Given the description of an element on the screen output the (x, y) to click on. 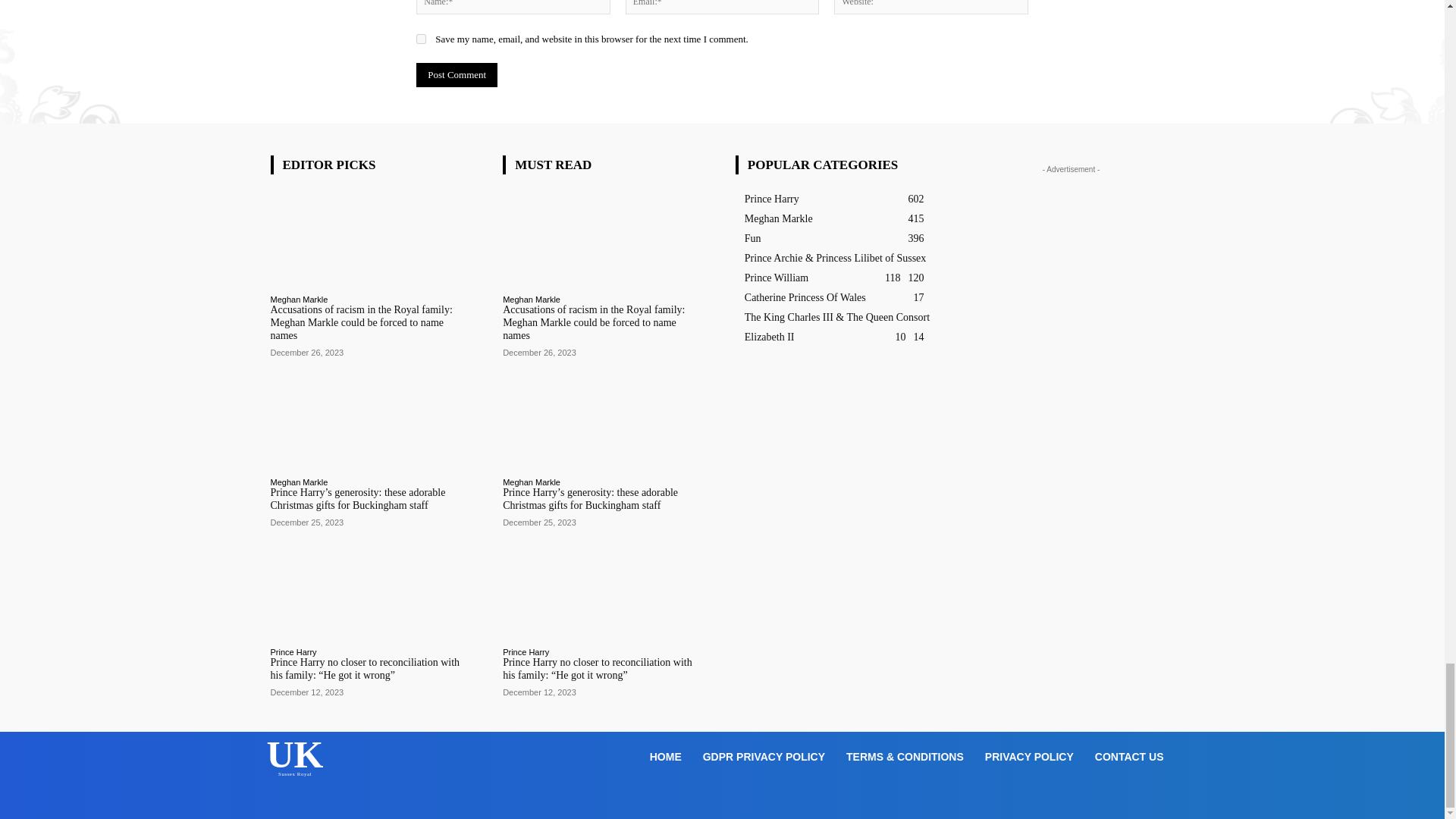
yes (421, 39)
Post Comment (456, 74)
